Given the description of an element on the screen output the (x, y) to click on. 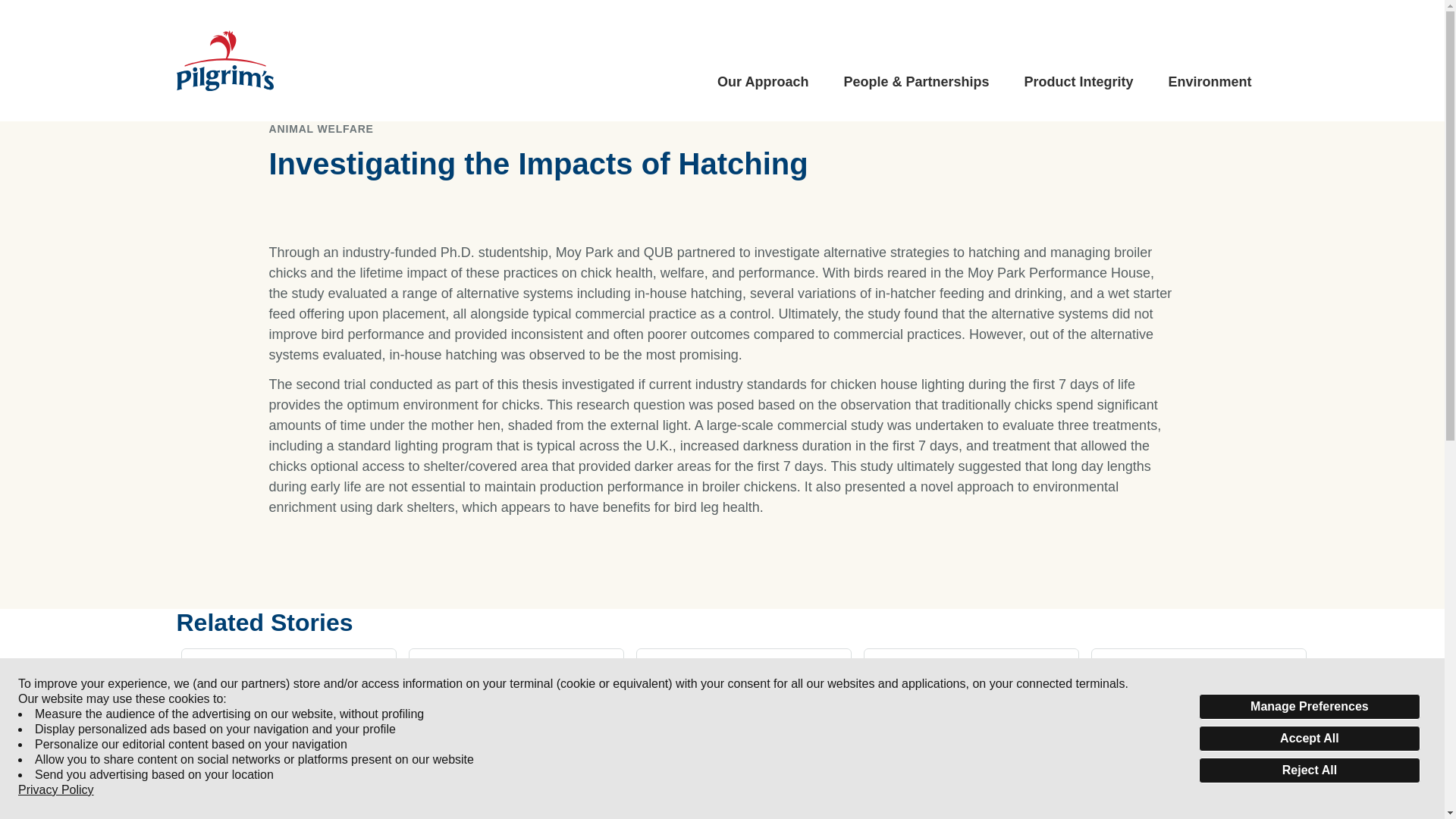
Reject All (1309, 769)
Accept All (1309, 738)
Privacy Policy (55, 789)
Environment (1208, 81)
Our Approach (762, 81)
Manage Preferences (1309, 706)
Product Integrity (1077, 81)
